Given the description of an element on the screen output the (x, y) to click on. 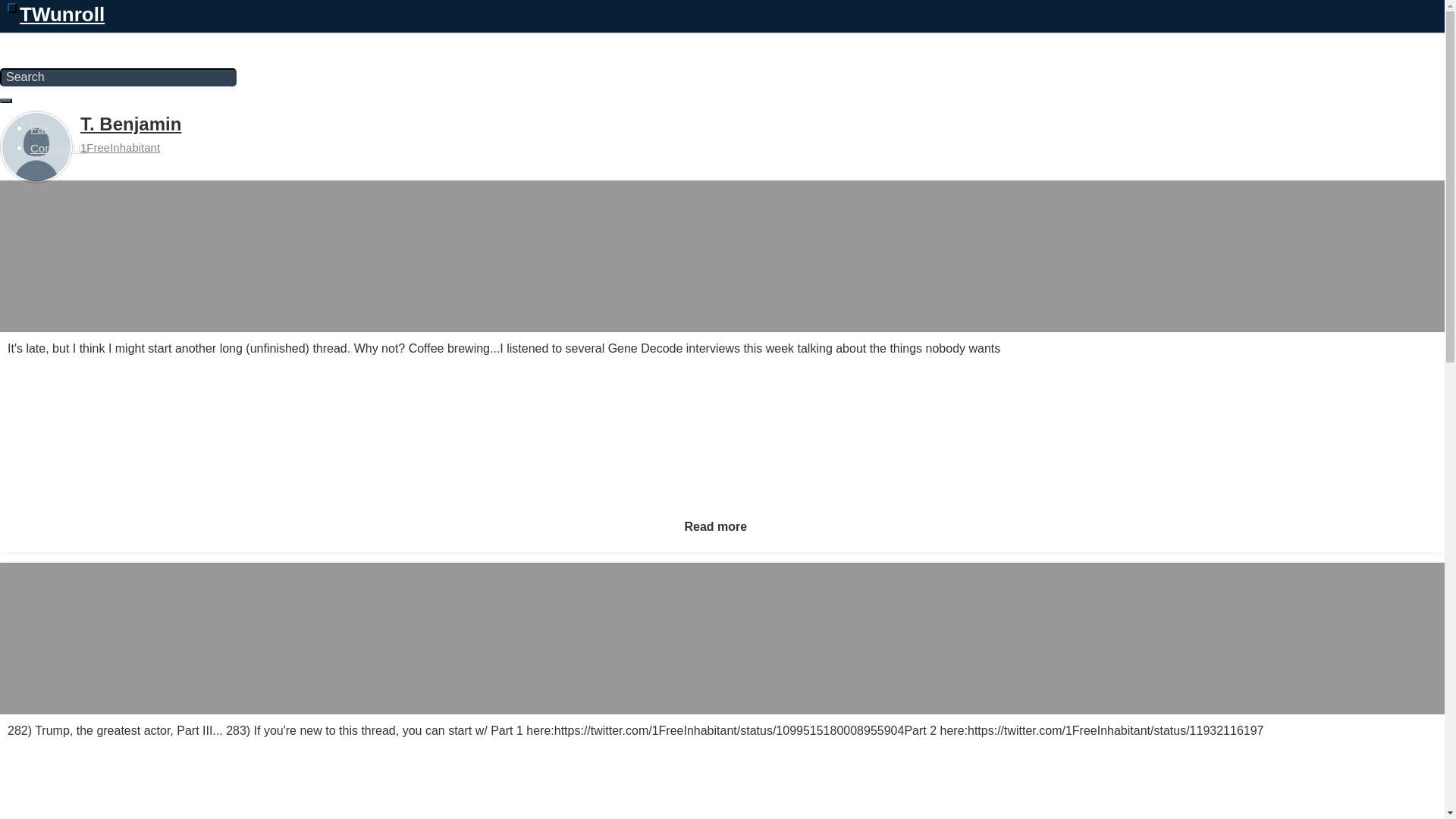
T. Benjamin (130, 123)
Twitter Unroll Tool (52, 41)
1FreeInhabitant (120, 146)
Read more (715, 526)
Toggle navigation (11, 8)
TWunroll (57, 12)
TWunroll (52, 41)
Contact US (59, 147)
